Given the description of an element on the screen output the (x, y) to click on. 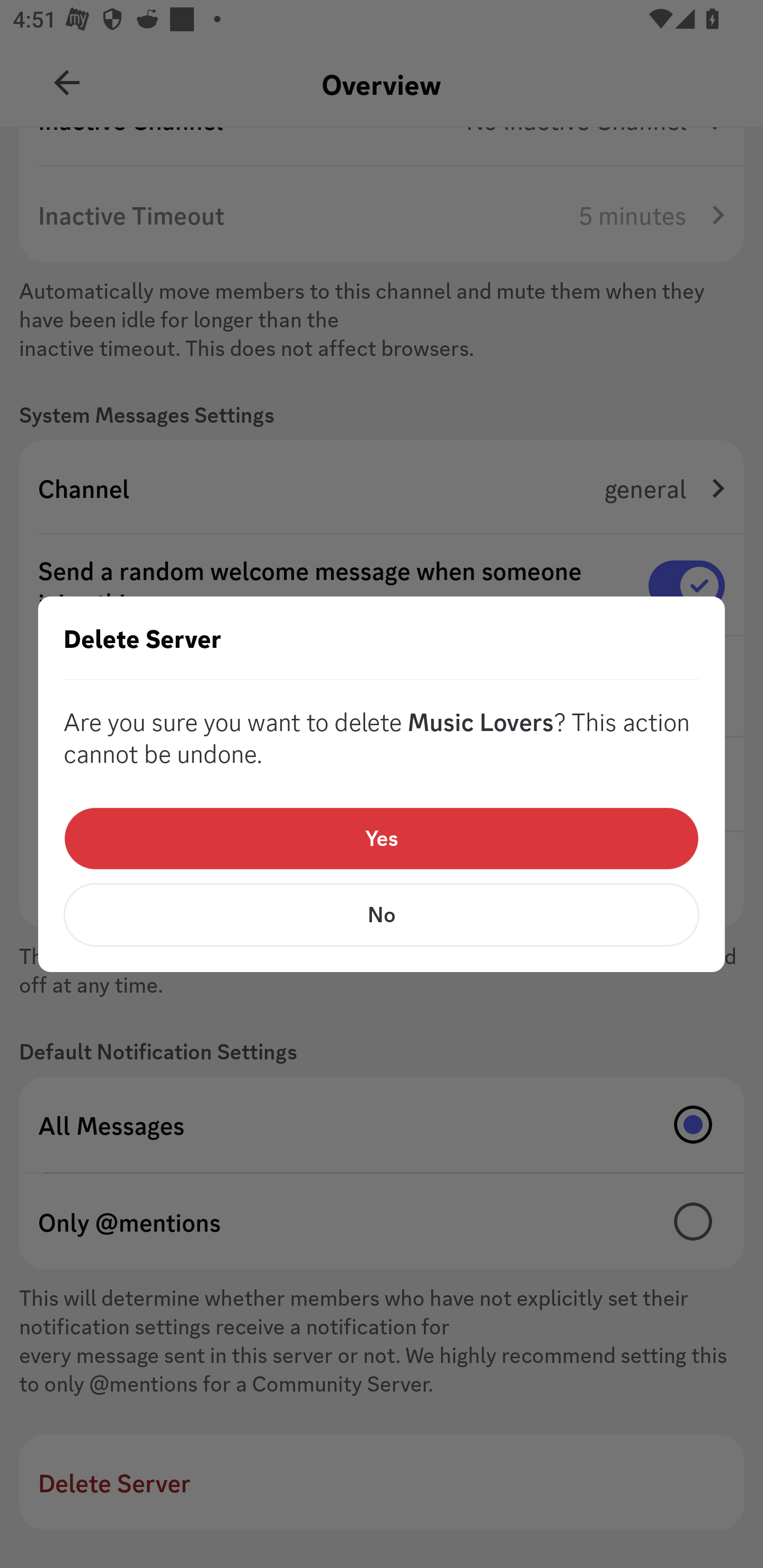
Yes (381, 838)
No (381, 914)
